Given the description of an element on the screen output the (x, y) to click on. 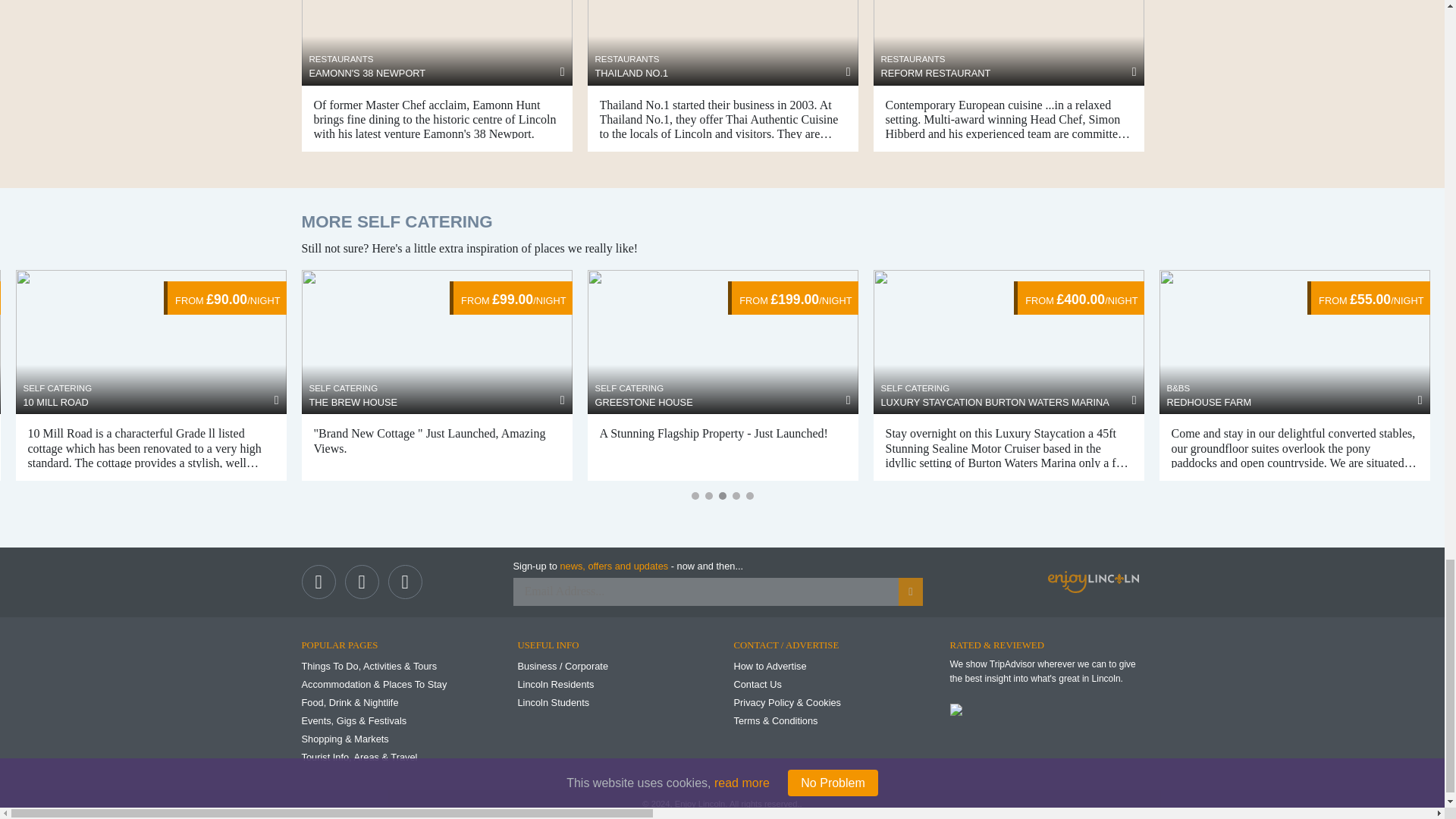
Information for Lincoln Businesses (562, 665)
Lincoln University Students Information and Accommodation (552, 702)
Advertise your business in Lincoln (769, 665)
Information for Lincoln Residents (555, 684)
